Given the description of an element on the screen output the (x, y) to click on. 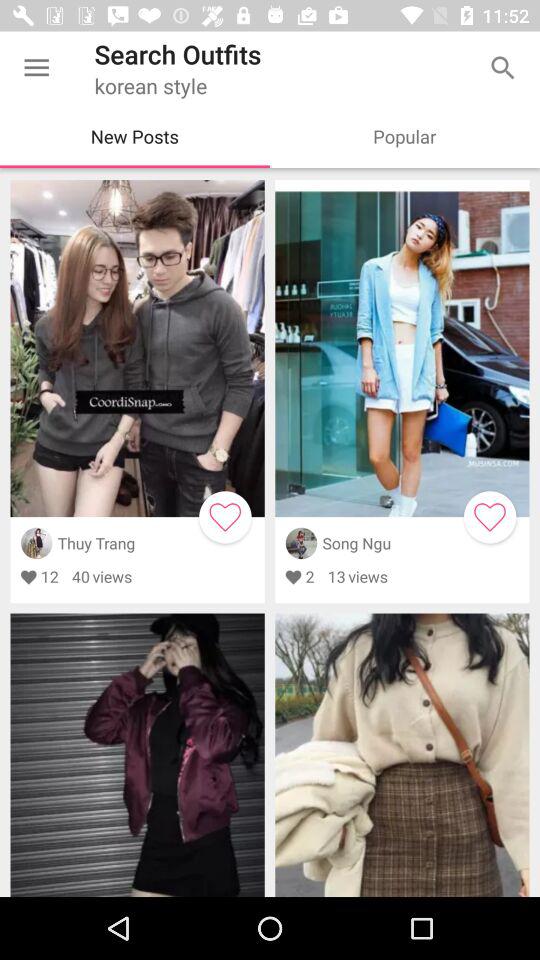
click the icon to the left of the search outfits icon (36, 68)
